Given the description of an element on the screen output the (x, y) to click on. 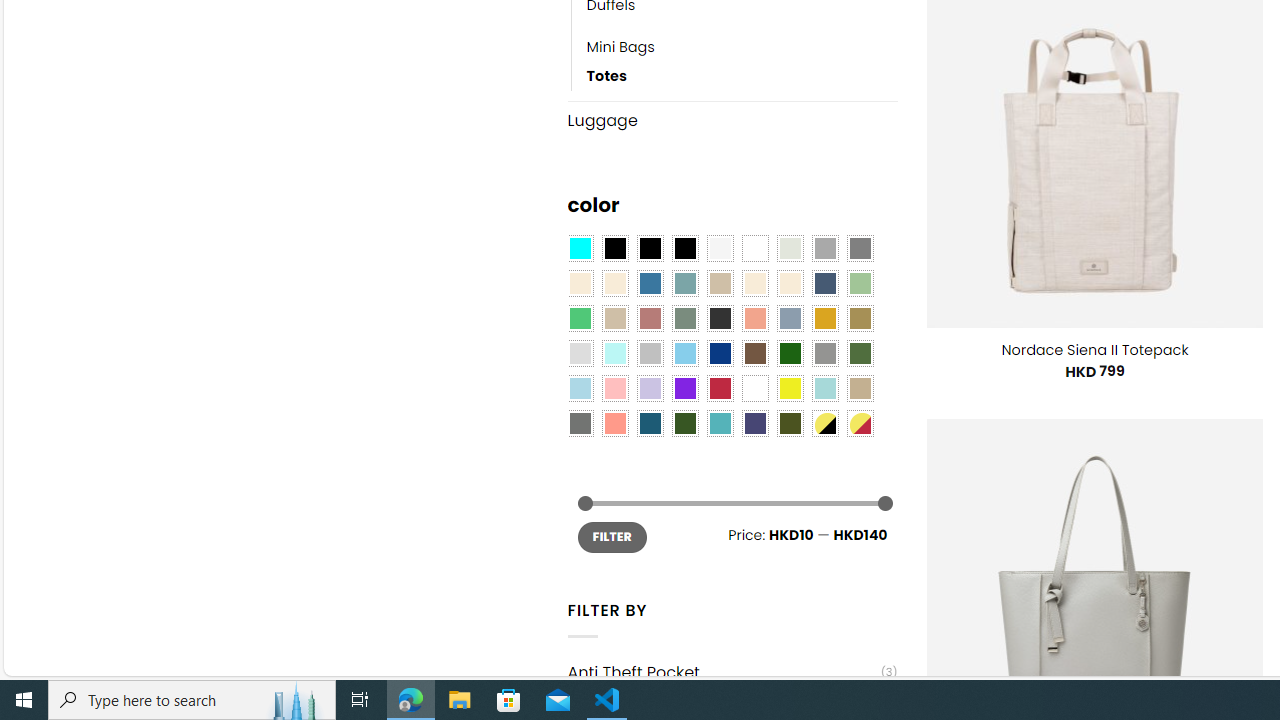
Luggage (732, 119)
Luggage (732, 120)
White (755, 388)
Charcoal (719, 318)
Yellow (789, 388)
Purple Navy (755, 424)
Yellow-Red (859, 424)
Light Blue (579, 388)
Yellow-Black (824, 424)
Cream (789, 283)
Navy Blue (719, 354)
Aqua Blue (579, 249)
Hale Navy (824, 283)
Nordace Siena II Totepack (1094, 350)
Red (719, 388)
